Given the description of an element on the screen output the (x, y) to click on. 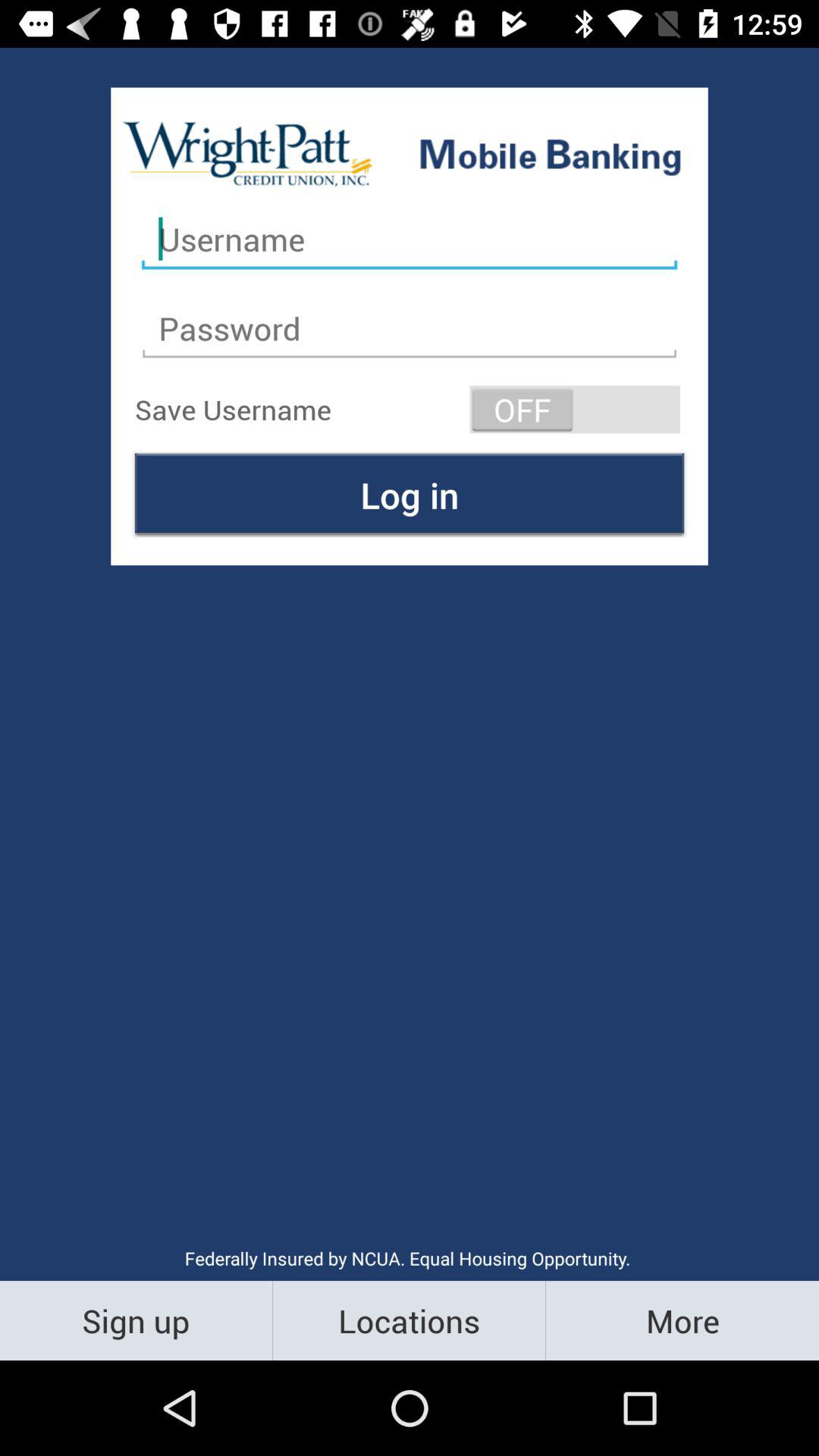
jump until the sign up item (136, 1320)
